Given the description of an element on the screen output the (x, y) to click on. 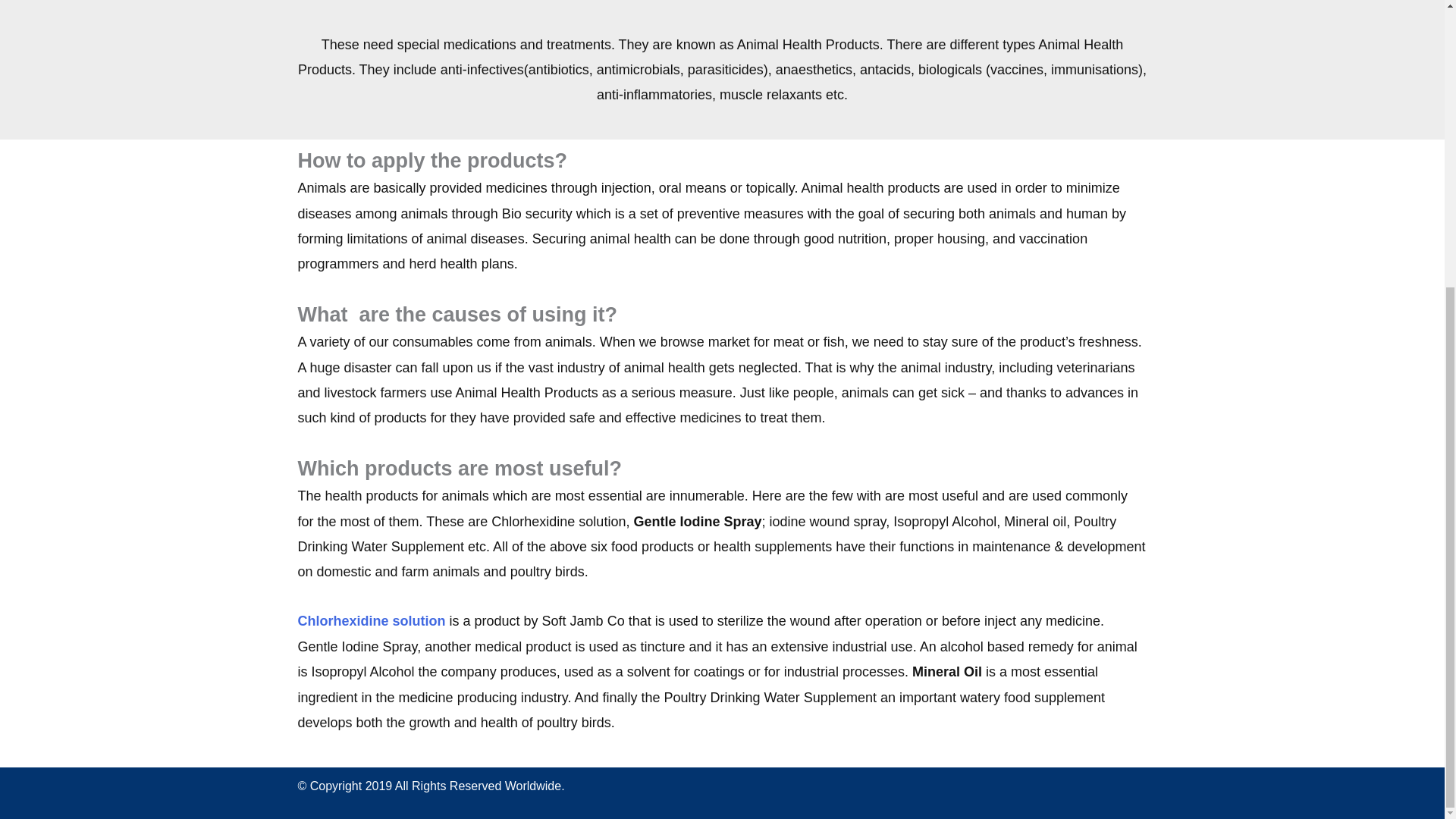
Chlorhexidine Solution  (372, 620)
Chlorhexidine solution  (372, 620)
